Given the description of an element on the screen output the (x, y) to click on. 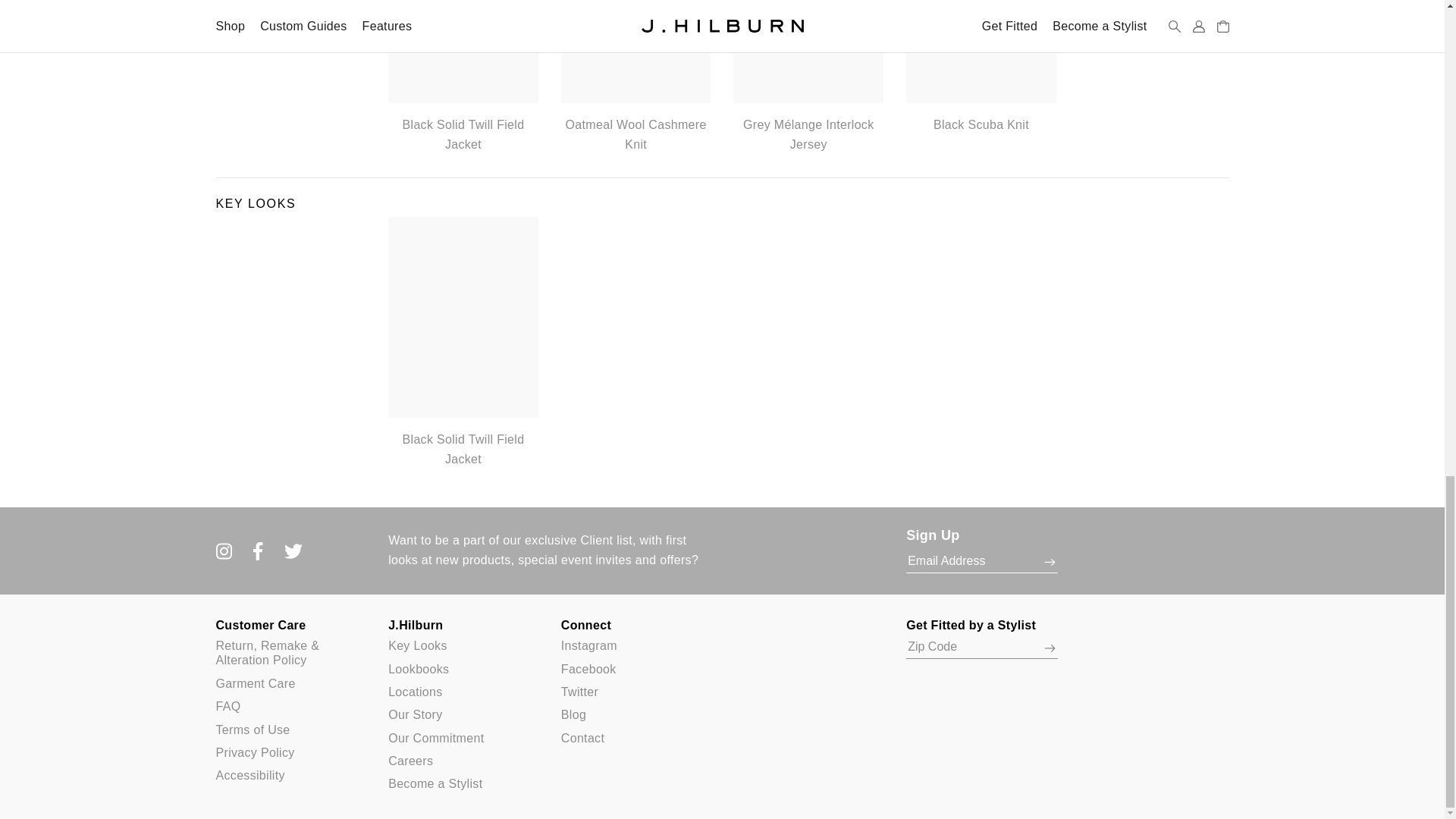
Black Solid Twill Field Jacket (463, 77)
Oatmeal Wool Cashmere Knit (636, 77)
Black Scuba Knit (981, 67)
